Given the description of an element on the screen output the (x, y) to click on. 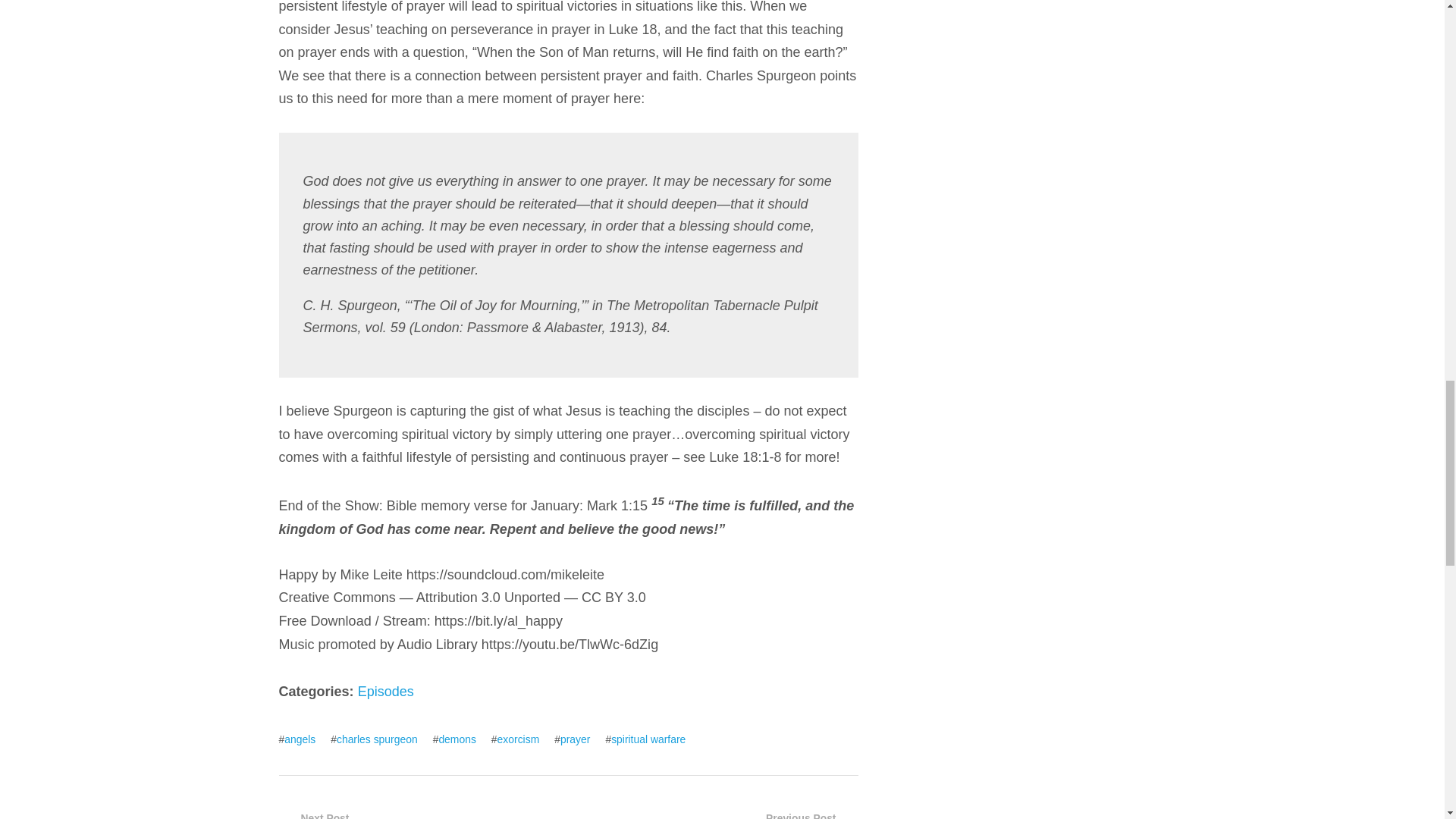
angels (299, 739)
Episodes (385, 691)
prayer (574, 739)
charles spurgeon (376, 739)
spiritual warfare (648, 739)
demons (457, 739)
exorcism (518, 739)
